Given the description of an element on the screen output the (x, y) to click on. 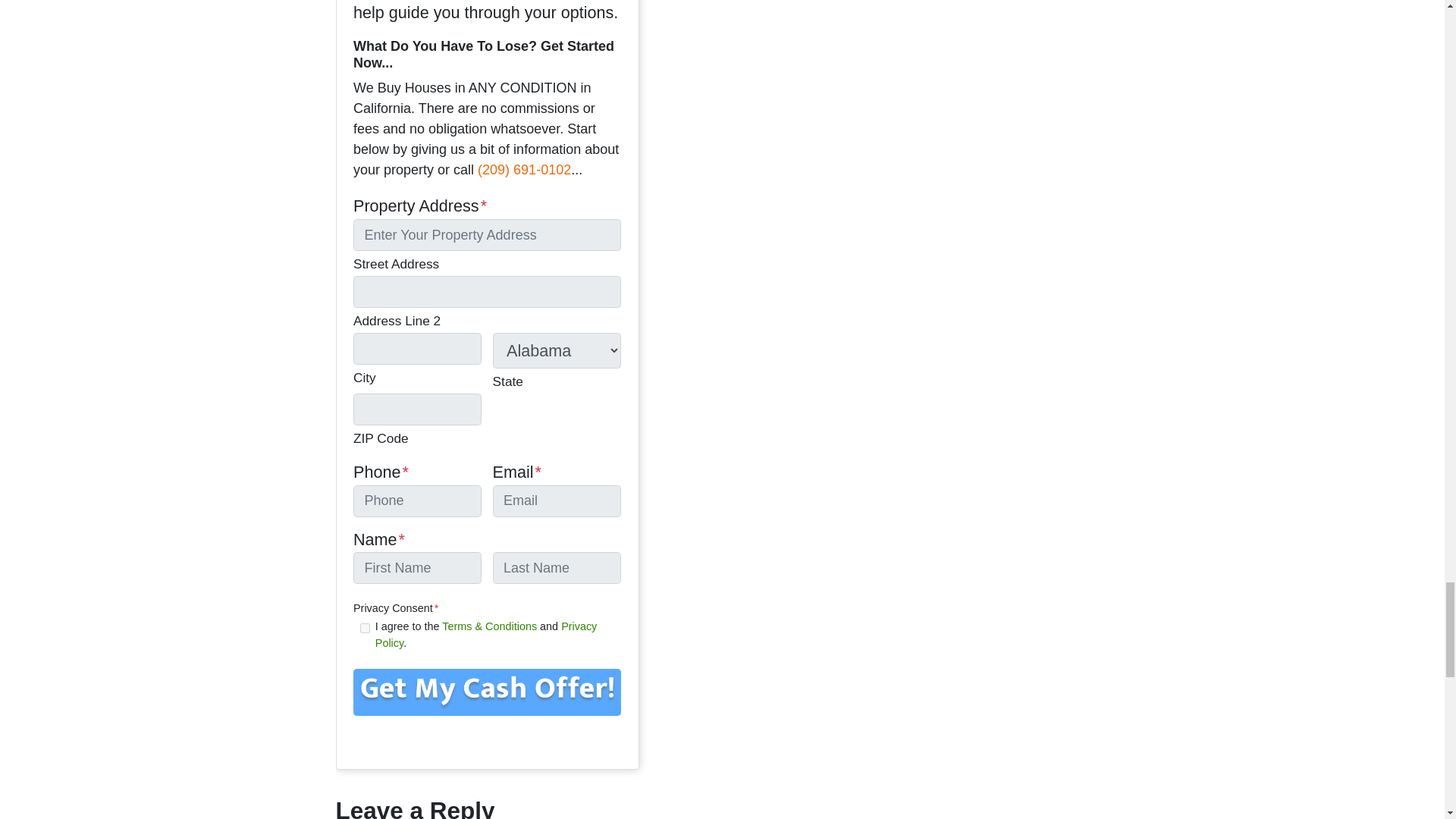
Pinterest (538, 740)
Zillow (562, 740)
Google Business (364, 740)
LinkedIn (488, 740)
Instagram (513, 740)
YouTube (463, 740)
Houzz (587, 740)
Facebook (414, 740)
Twitter (389, 740)
Yelp (438, 740)
